Given the description of an element on the screen output the (x, y) to click on. 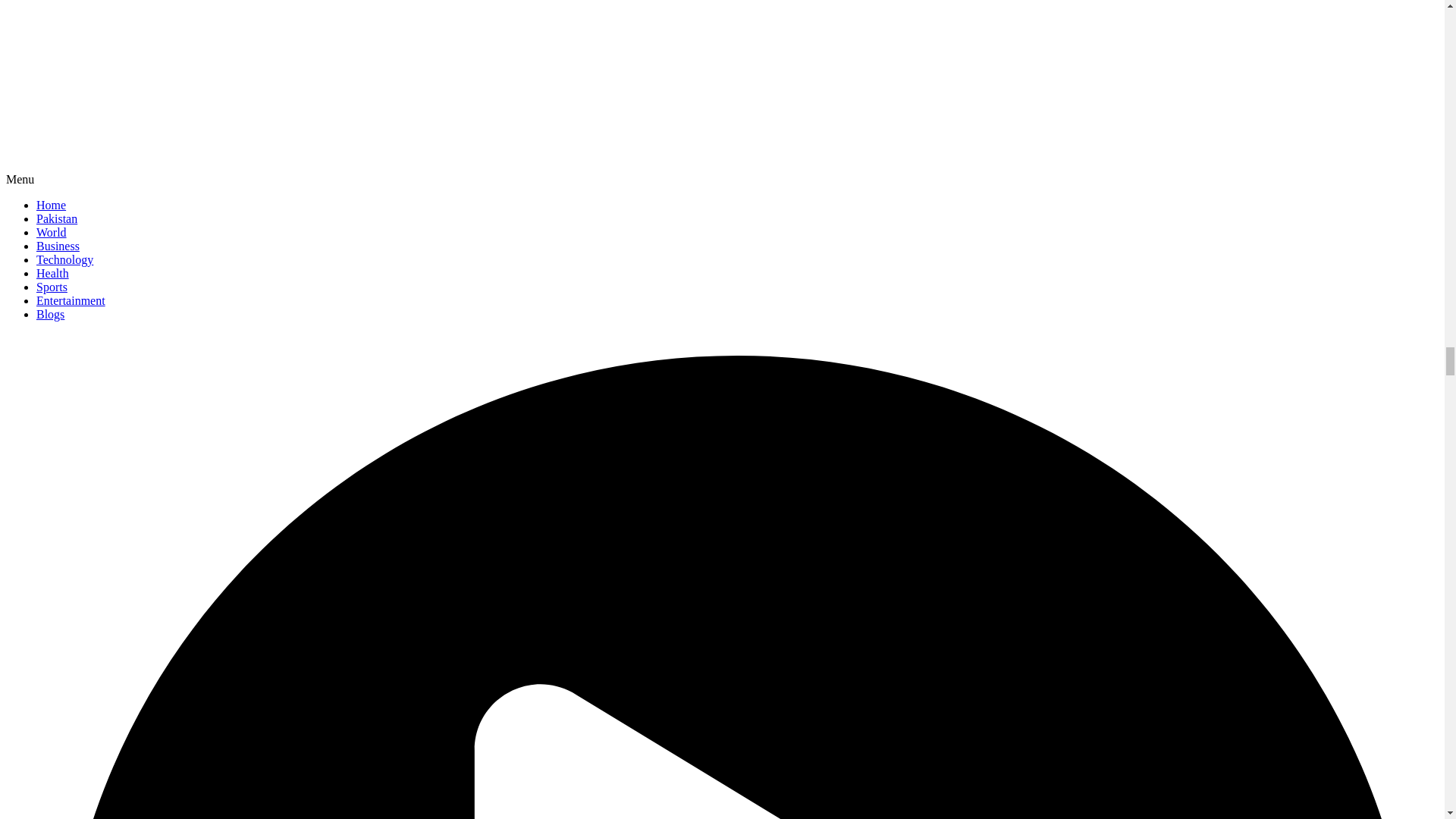
Pakistan (56, 218)
Technology (64, 259)
Home (50, 205)
World (51, 232)
Business (58, 245)
